Given the description of an element on the screen output the (x, y) to click on. 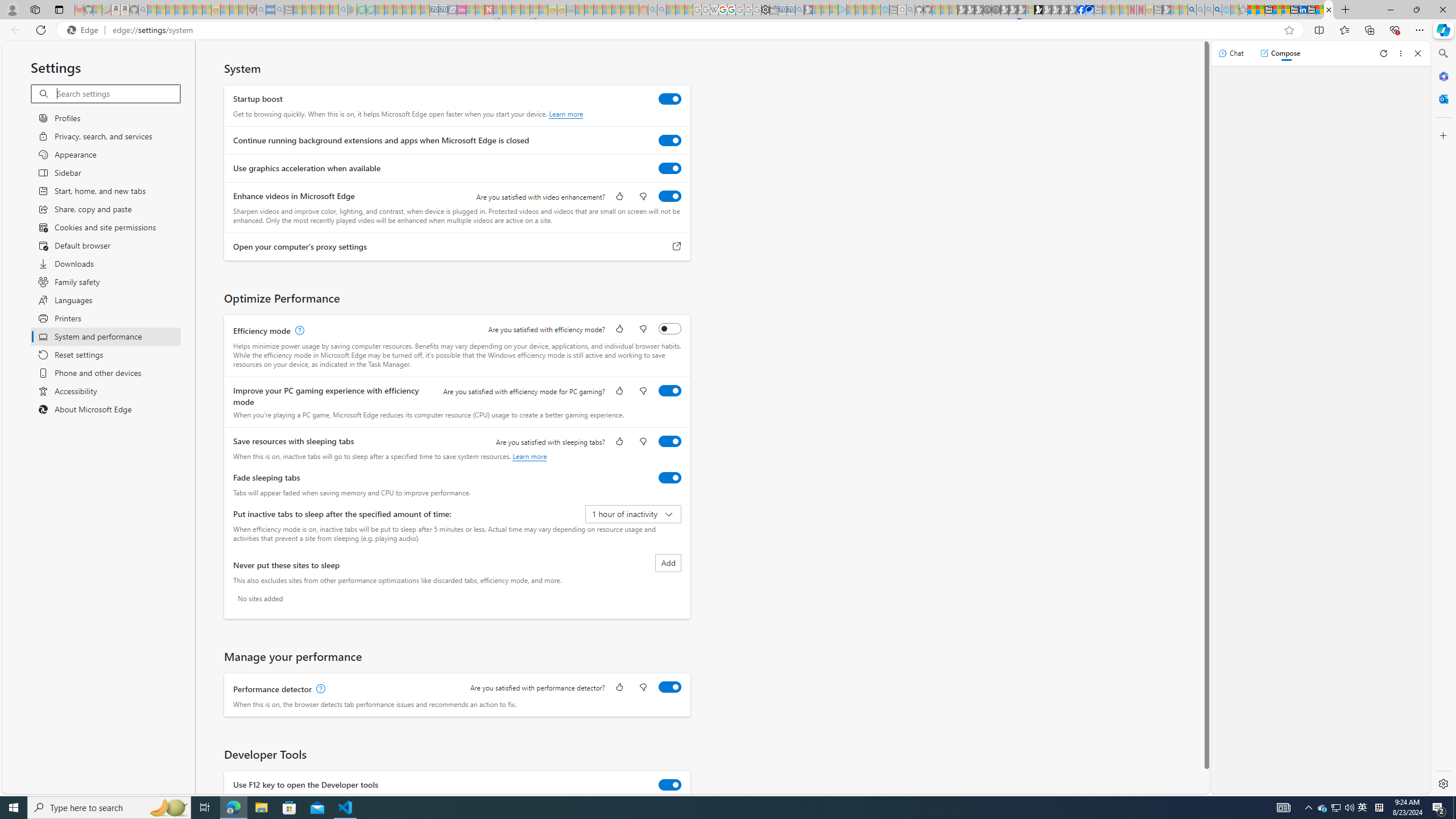
Open your computer's proxy settings (676, 246)
Enhance videos in Microsoft Edge (669, 196)
Wallet - Sleeping (773, 9)
Local - MSN - Sleeping (242, 9)
Terms of Use Agreement - Sleeping (361, 9)
